Given the description of an element on the screen output the (x, y) to click on. 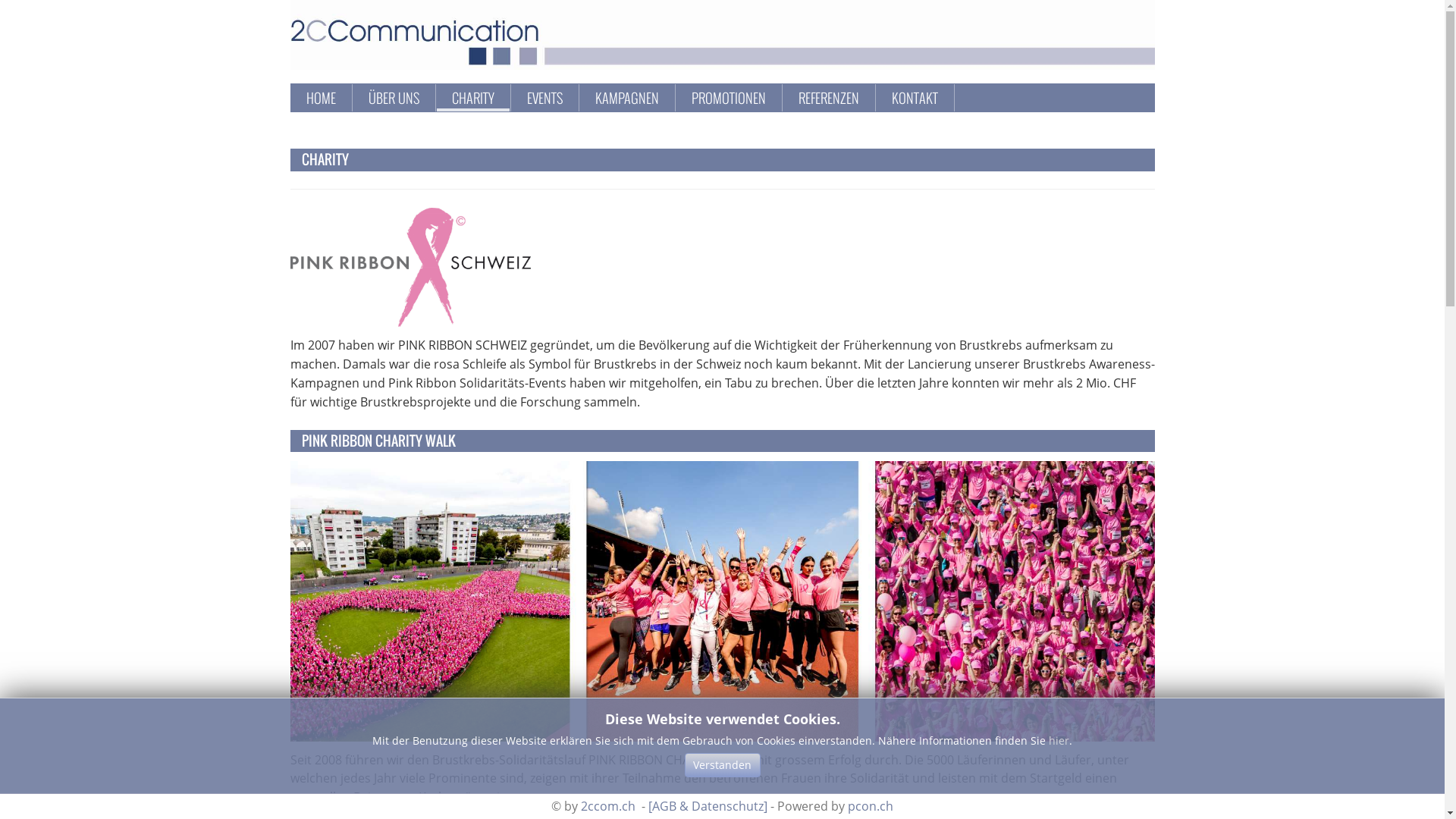
hier Element type: text (1058, 740)
REFERENZEN Element type: text (827, 97)
KAMPAGNEN Element type: text (626, 97)
KONTAKT Element type: text (914, 97)
HOME Element type: text (321, 97)
CHARITY Element type: text (472, 97)
[AGB & Datenschutz] Element type: text (707, 805)
pcon.ch Element type: text (870, 805)
2ccom.ch Element type: text (607, 805)
EVENTS Element type: text (544, 97)
PROMOTIONEN Element type: text (728, 97)
